Given the description of an element on the screen output the (x, y) to click on. 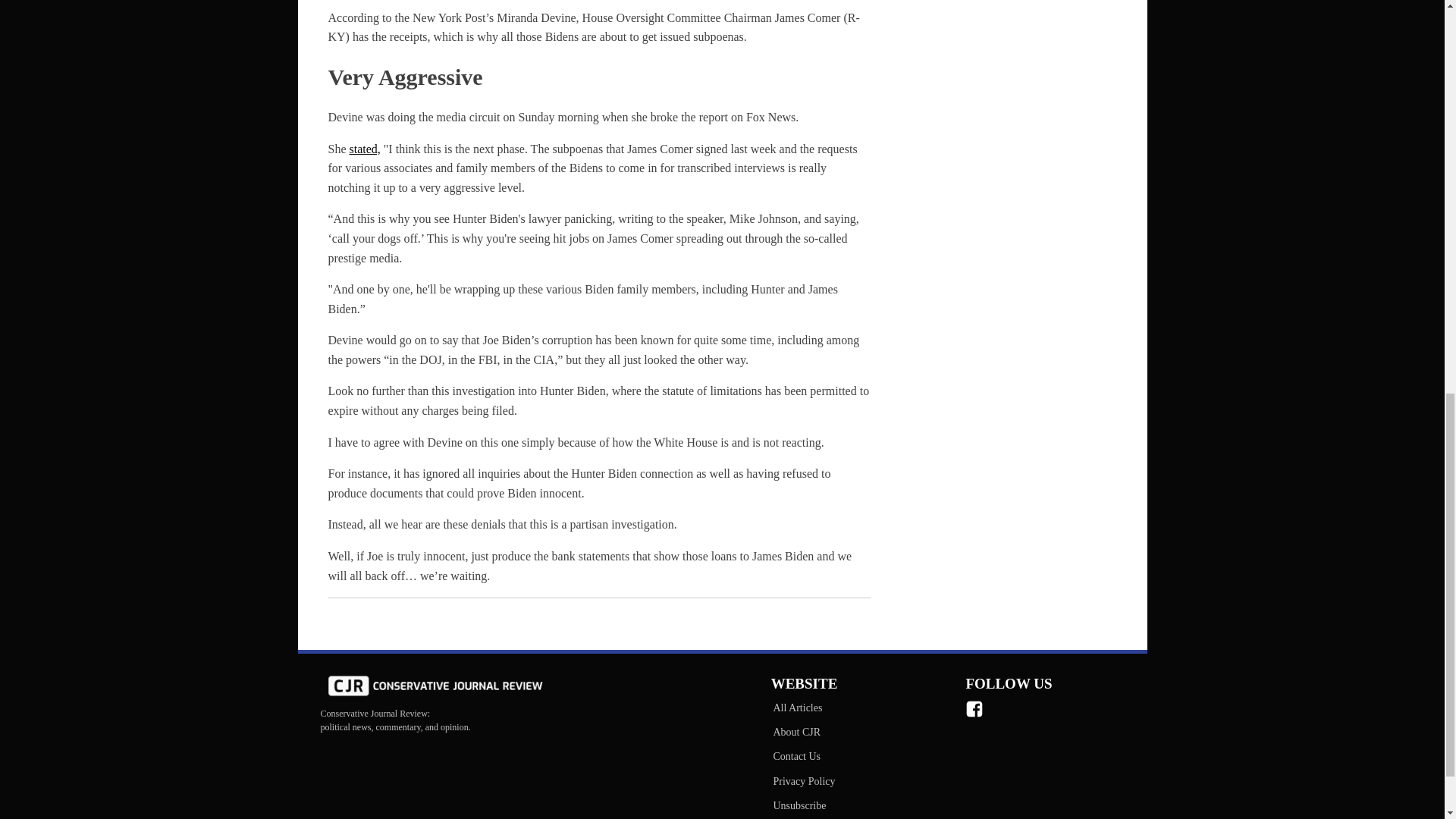
About CJR (803, 732)
stated, (364, 148)
Privacy Policy (803, 781)
Contact Us (803, 756)
All Articles (803, 708)
Unsubscribe (803, 805)
